Given the description of an element on the screen output the (x, y) to click on. 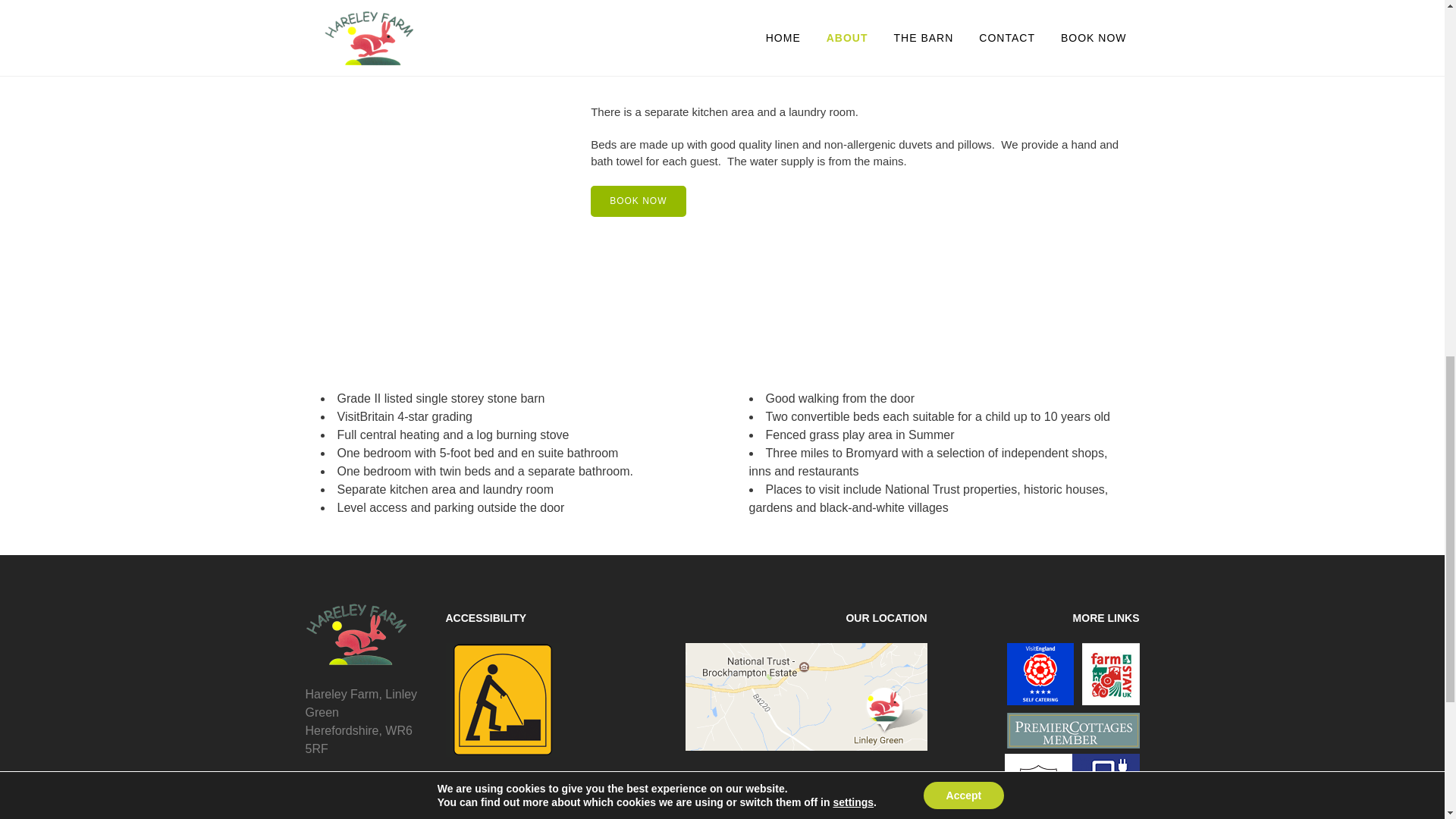
VIEW FLOOR PLAN (371, 31)
Email us (327, 799)
BOOK NOW (638, 201)
